Given the description of an element on the screen output the (x, y) to click on. 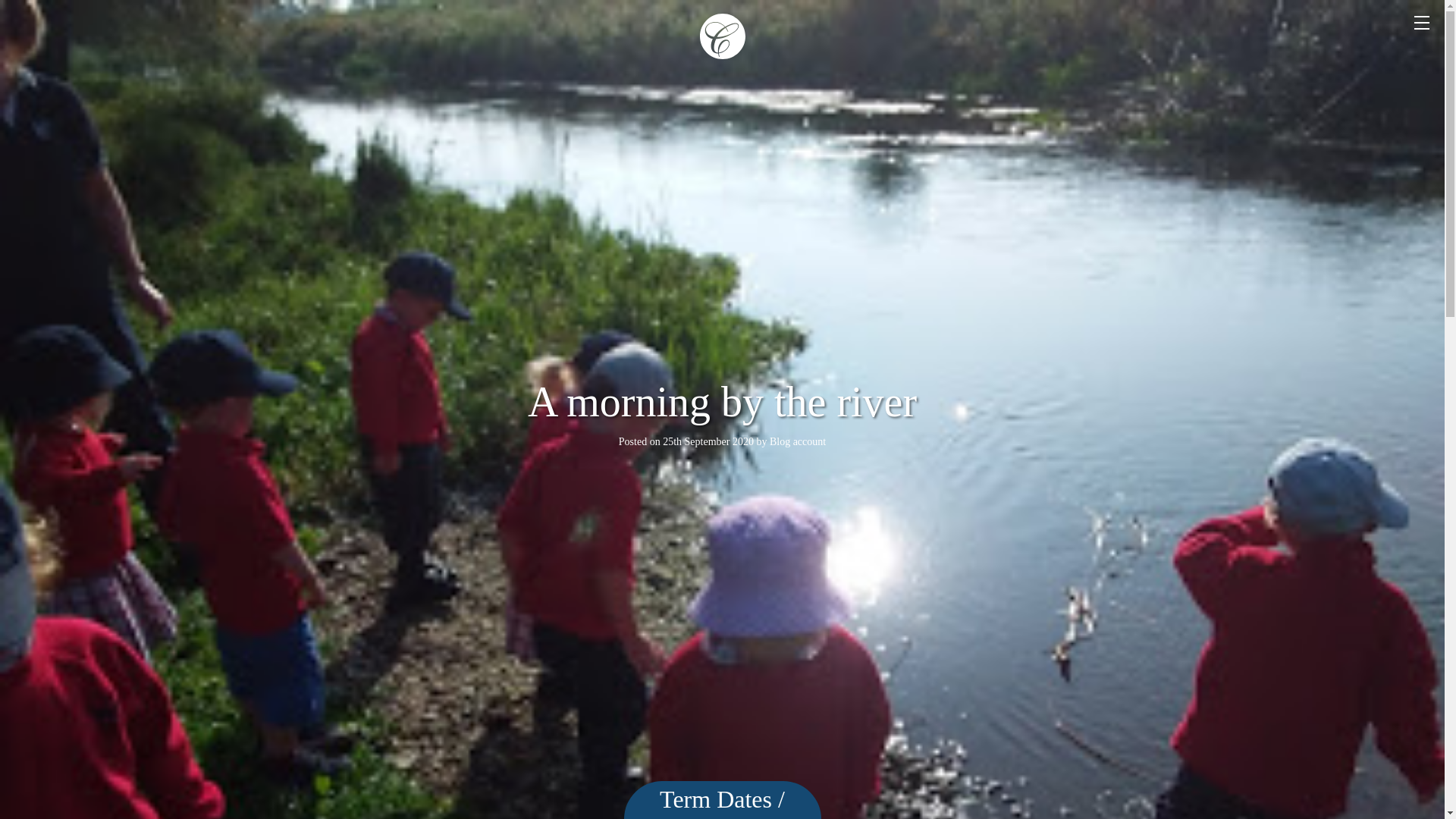
Term Dates (715, 799)
View the Copthill School Term Dates (715, 799)
